Given the description of an element on the screen output the (x, y) to click on. 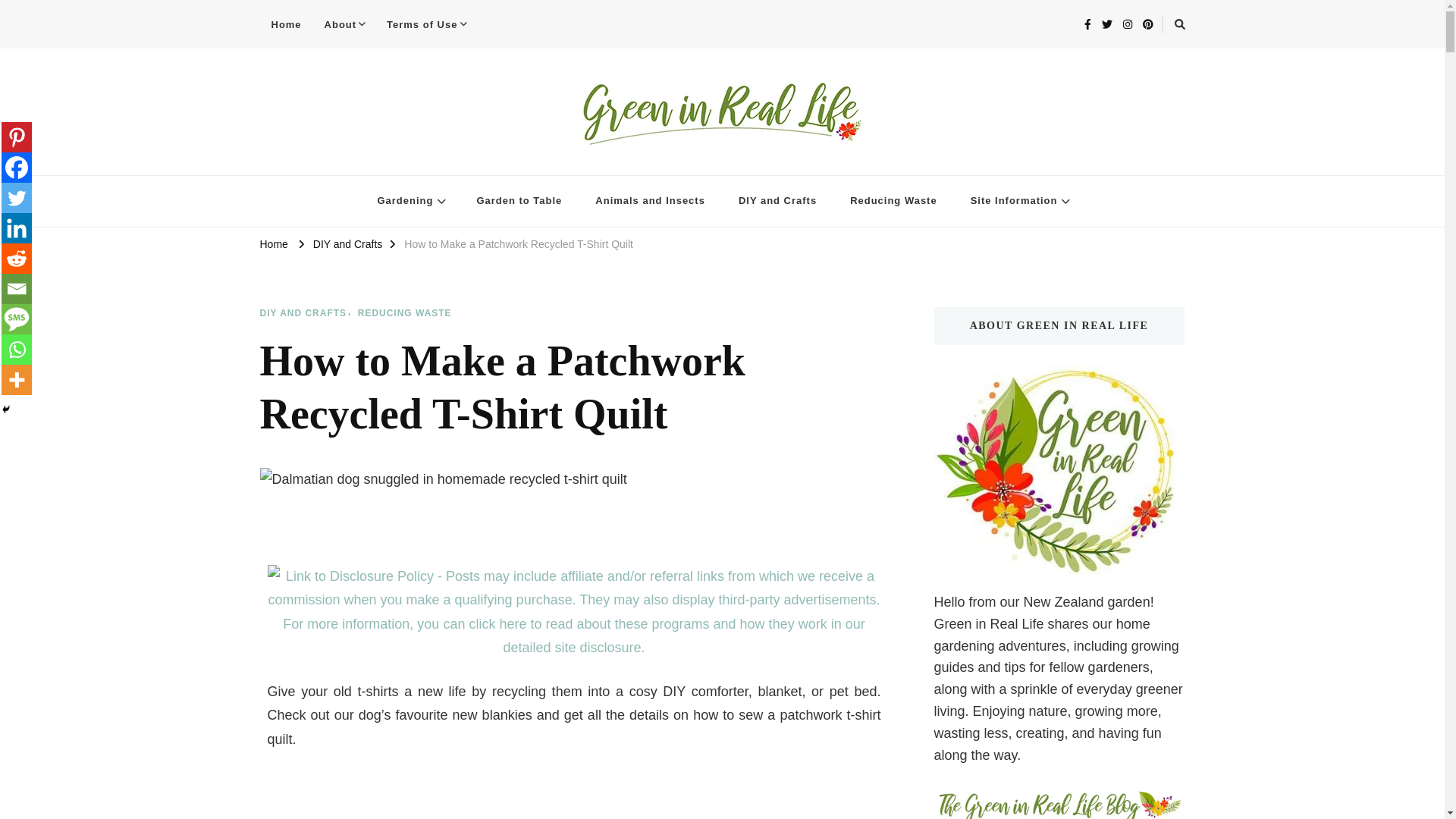
Twitter (16, 197)
More (16, 379)
DIY and Crafts (777, 201)
About (344, 24)
Gardening (410, 201)
SMS (16, 318)
Hide (5, 409)
Green in Real Life (349, 166)
Garden to Table (519, 201)
Search (976, 26)
